Given the description of an element on the screen output the (x, y) to click on. 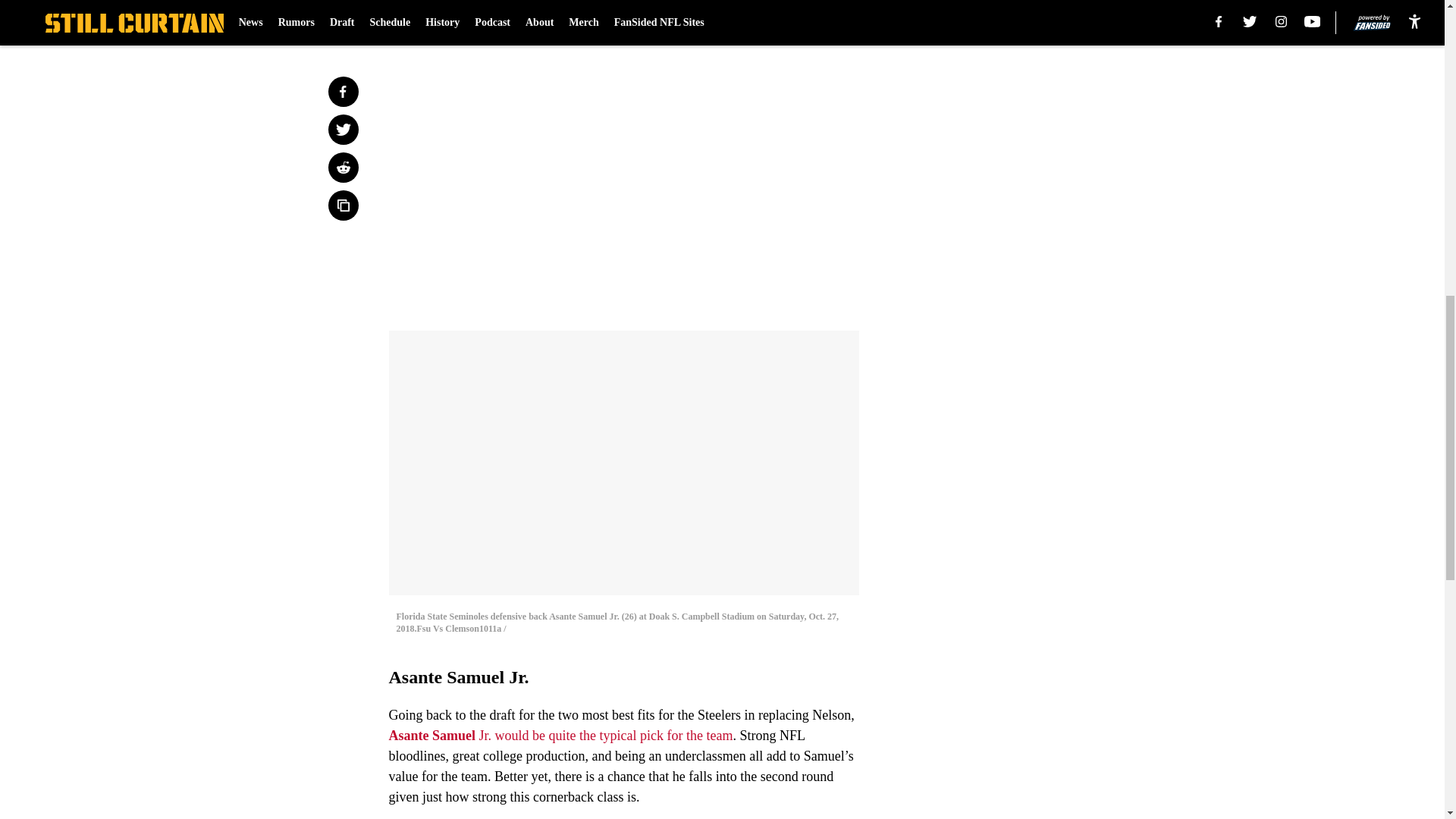
Asante Samuel Jr. (440, 735)
Prev (433, 20)
Next (813, 20)
would be quite the typical pick for the team (614, 735)
